Given the description of an element on the screen output the (x, y) to click on. 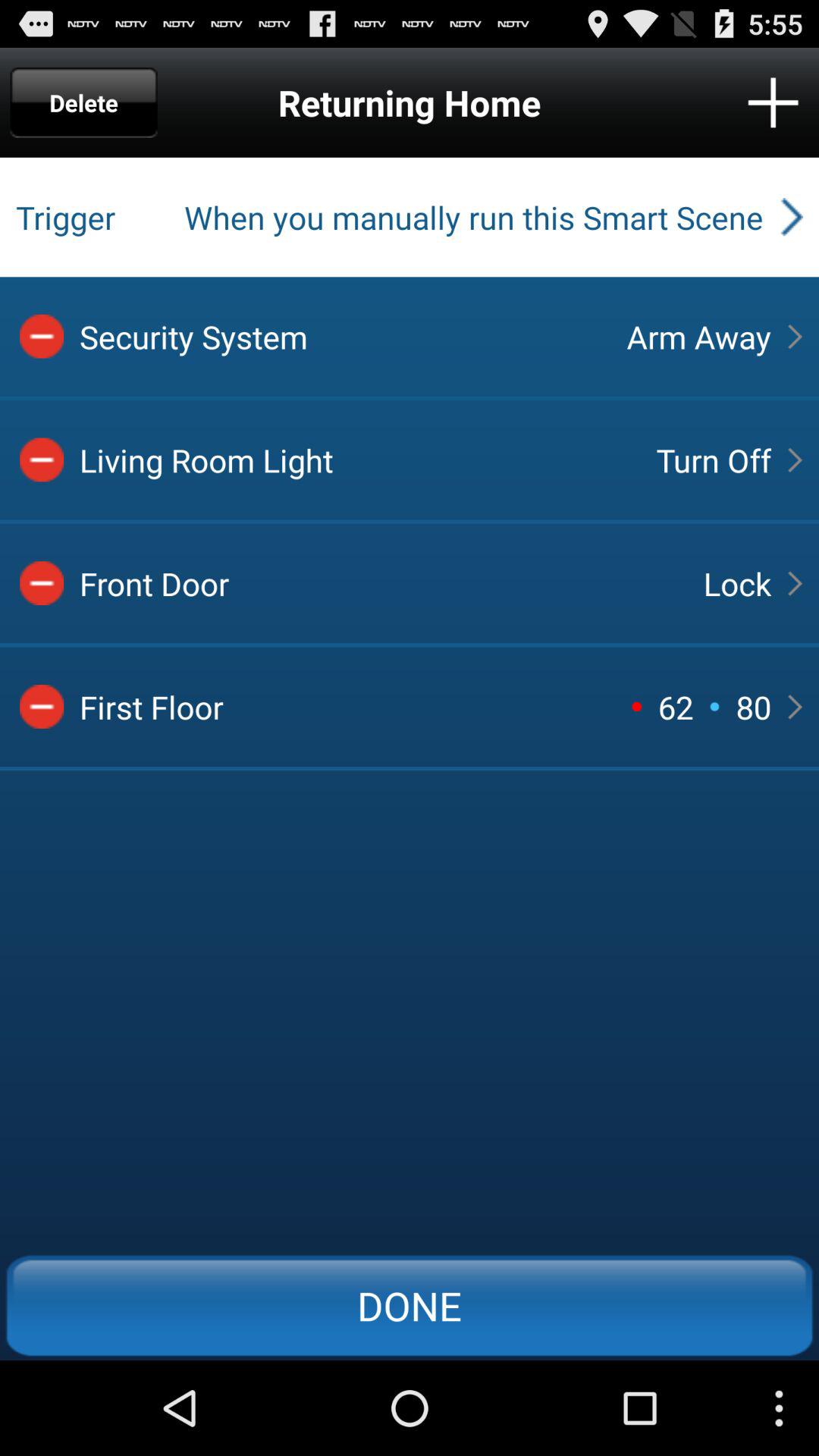
choose app next to security system icon (698, 336)
